Given the description of an element on the screen output the (x, y) to click on. 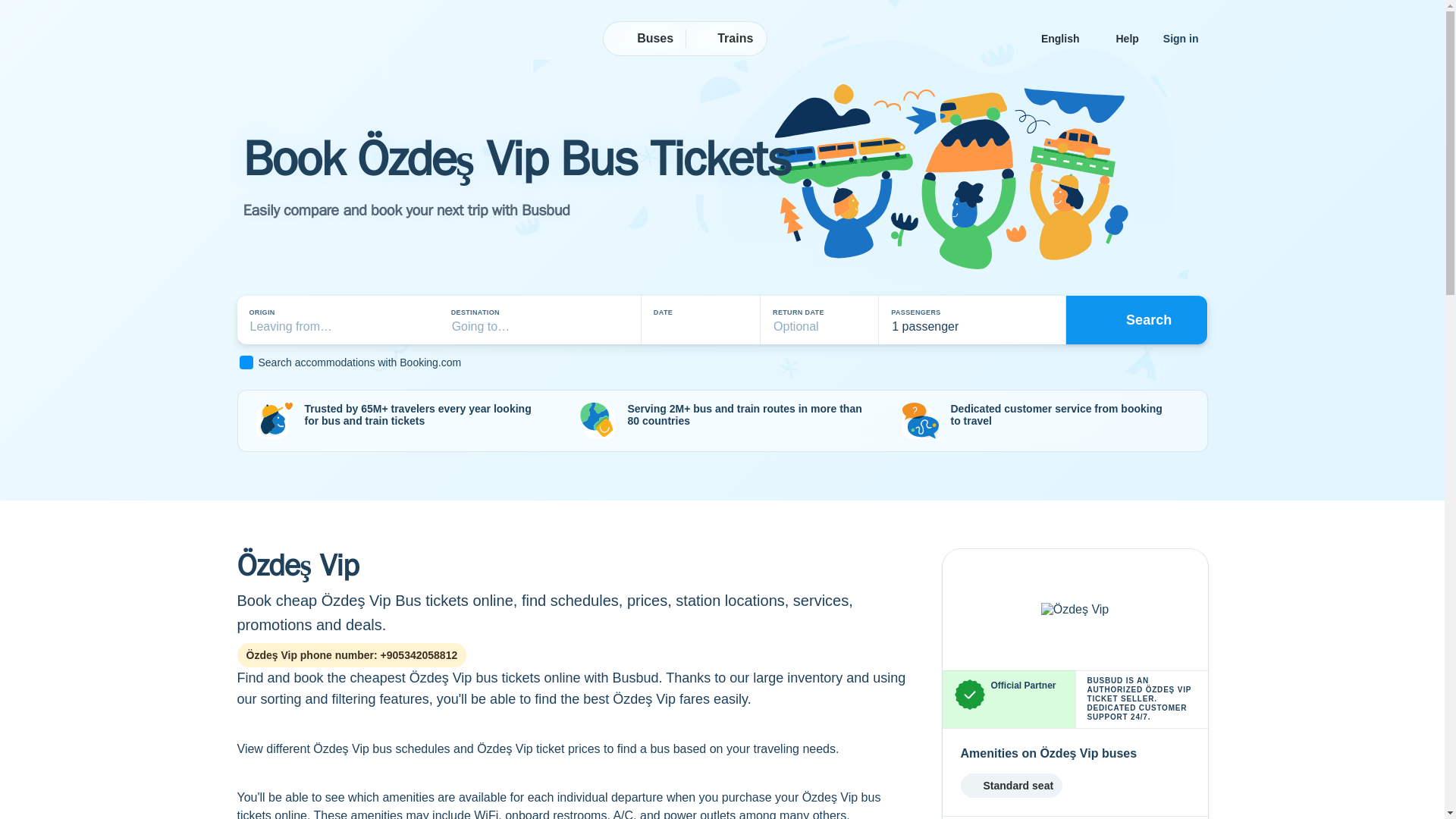
English (1066, 38)
Search (1136, 319)
Sign in (1181, 38)
Buses (645, 38)
Trains (725, 38)
Help (1126, 38)
1 passenger (971, 319)
